Given the description of an element on the screen output the (x, y) to click on. 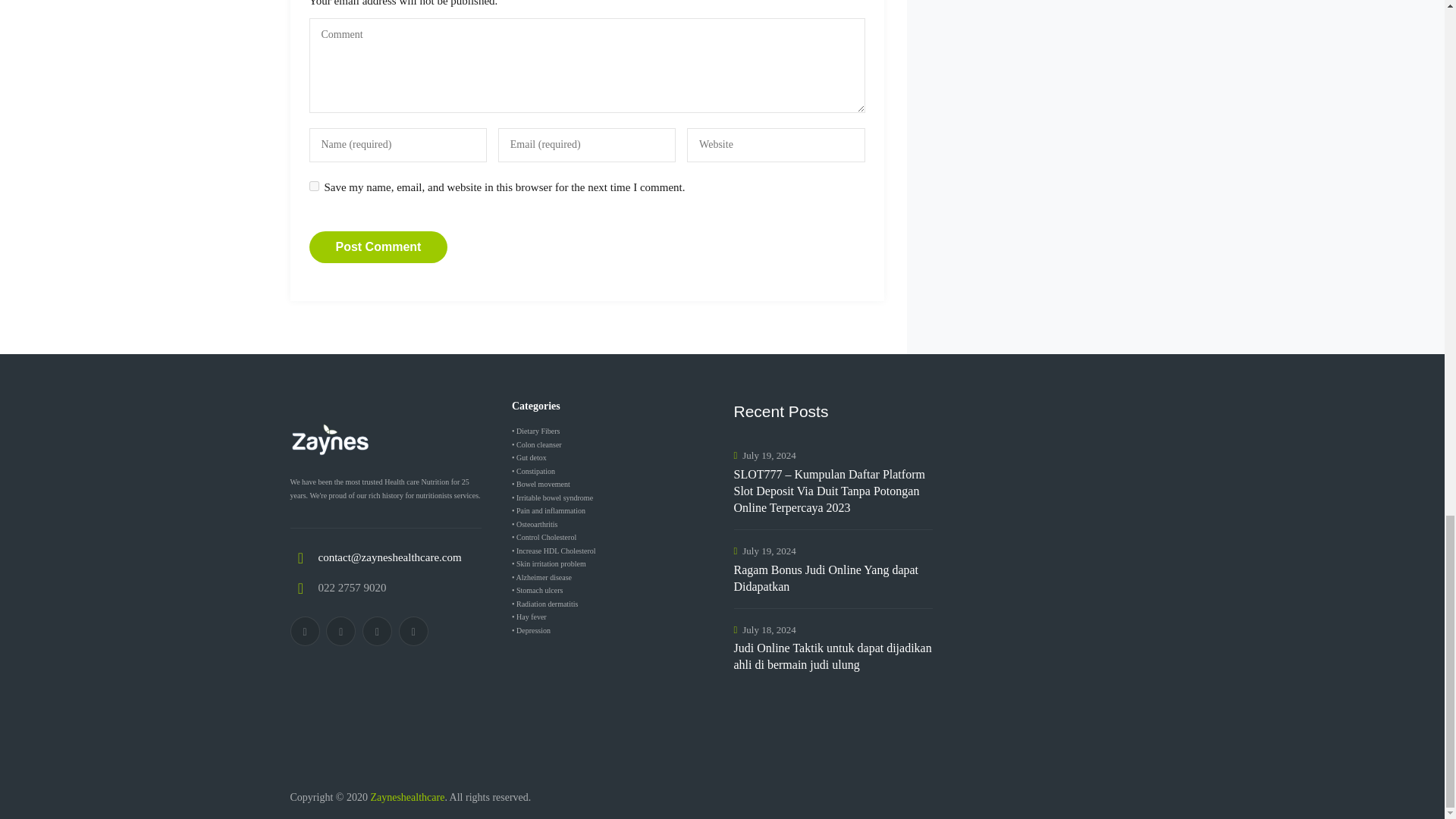
Ragam Bonus Judi Online Yang dapat Didapatkan (833, 578)
yes (313, 185)
Post Comment (378, 246)
Zayneshealthcare (406, 797)
Post Comment (378, 246)
